Given the description of an element on the screen output the (x, y) to click on. 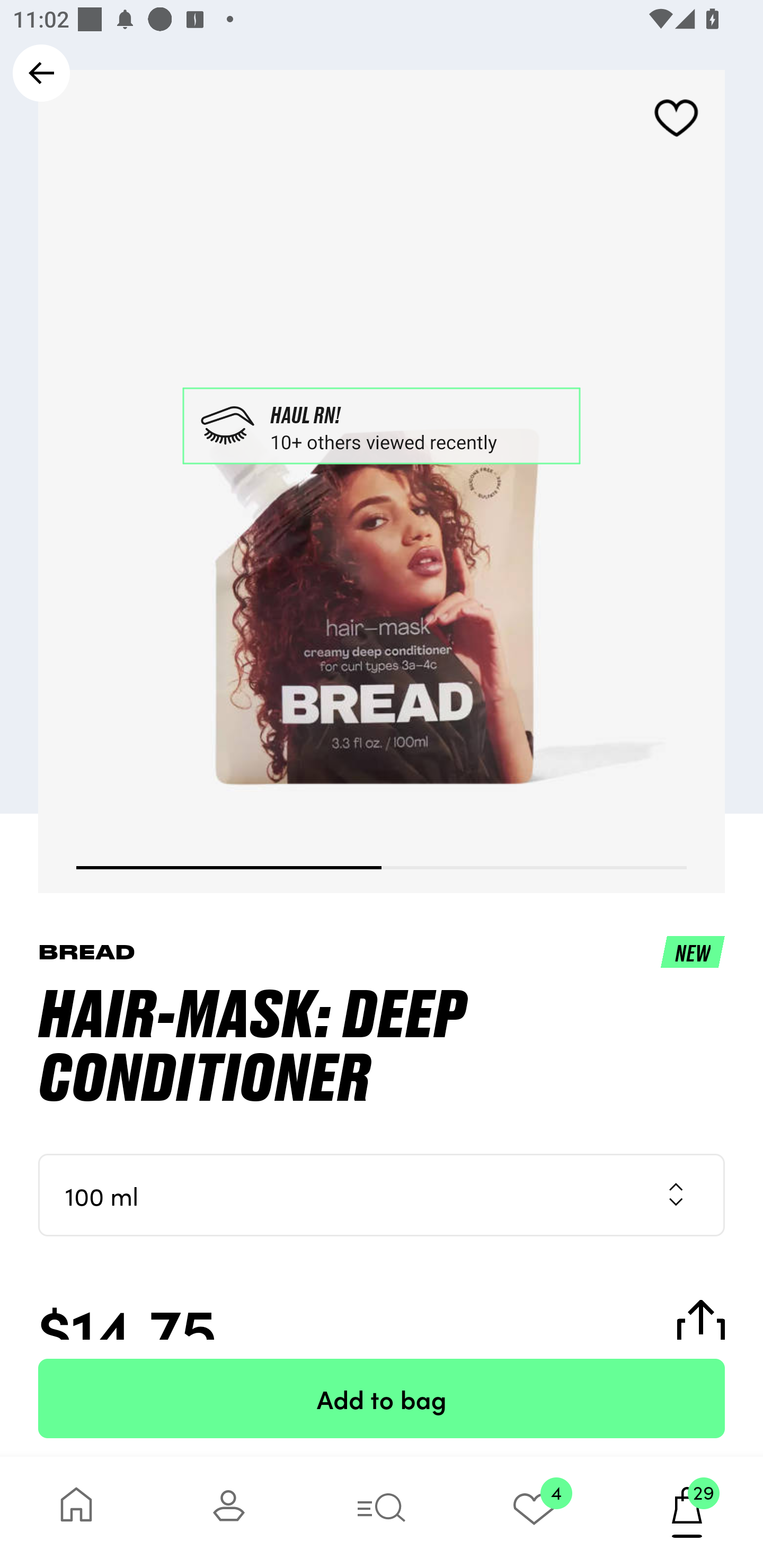
100 ml  (381, 1195)
Add to bag (381, 1398)
4 (533, 1512)
29 (686, 1512)
